Given the description of an element on the screen output the (x, y) to click on. 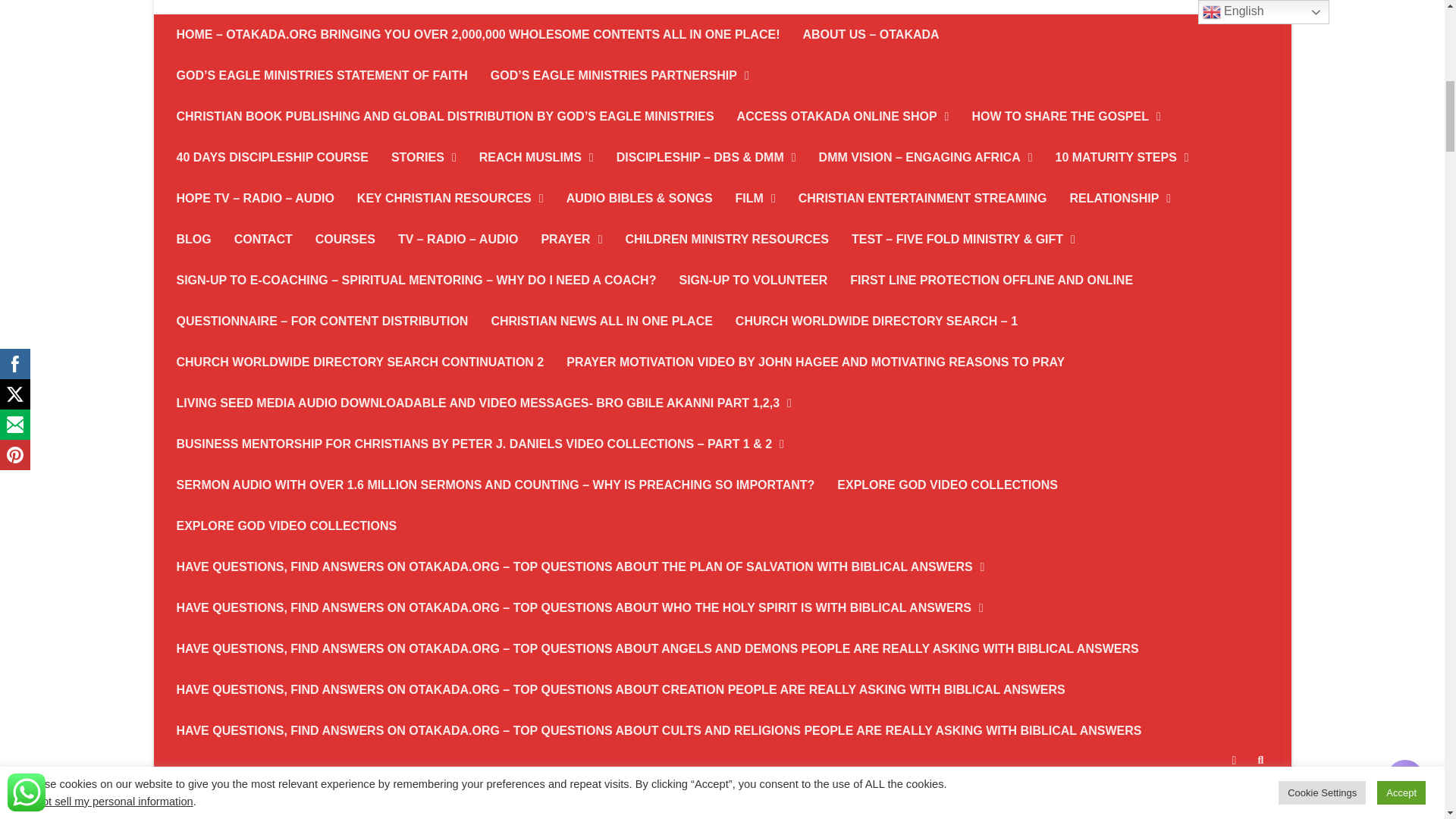
View Random Post (1233, 760)
Search (1260, 760)
40 DAYS DISCIPLESHIP COURSE (272, 157)
REACH MUSLIMS (536, 157)
ACCESS OTAKADA ONLINE SHOP (842, 116)
HOW TO SHARE THE GOSPEL (1065, 116)
STORIES (423, 157)
